Given the description of an element on the screen output the (x, y) to click on. 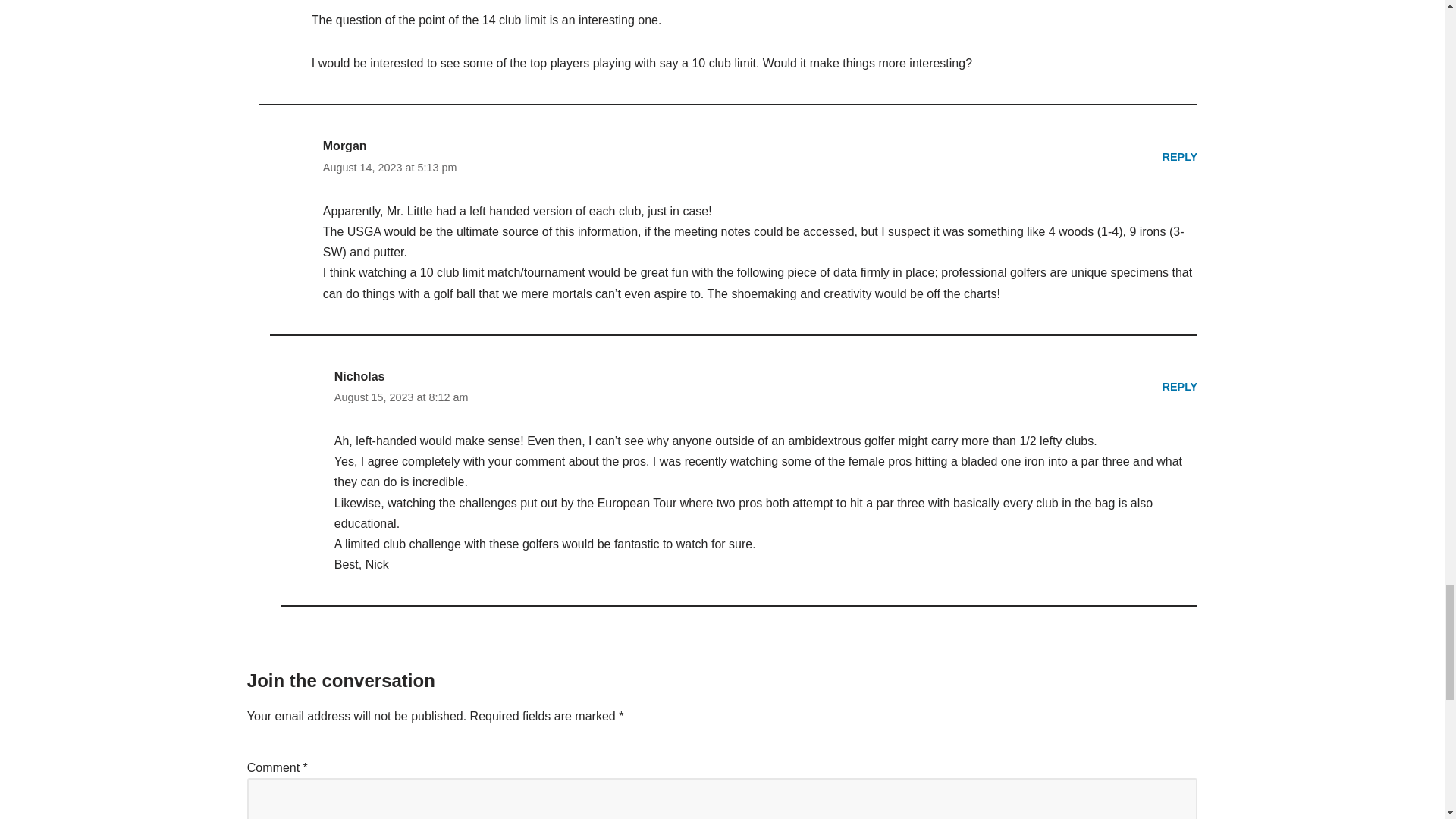
REPLY (1179, 386)
August 15, 2023 at 8:12 am (401, 396)
August 14, 2023 at 5:13 pm (390, 167)
REPLY (1179, 155)
